Given the description of an element on the screen output the (x, y) to click on. 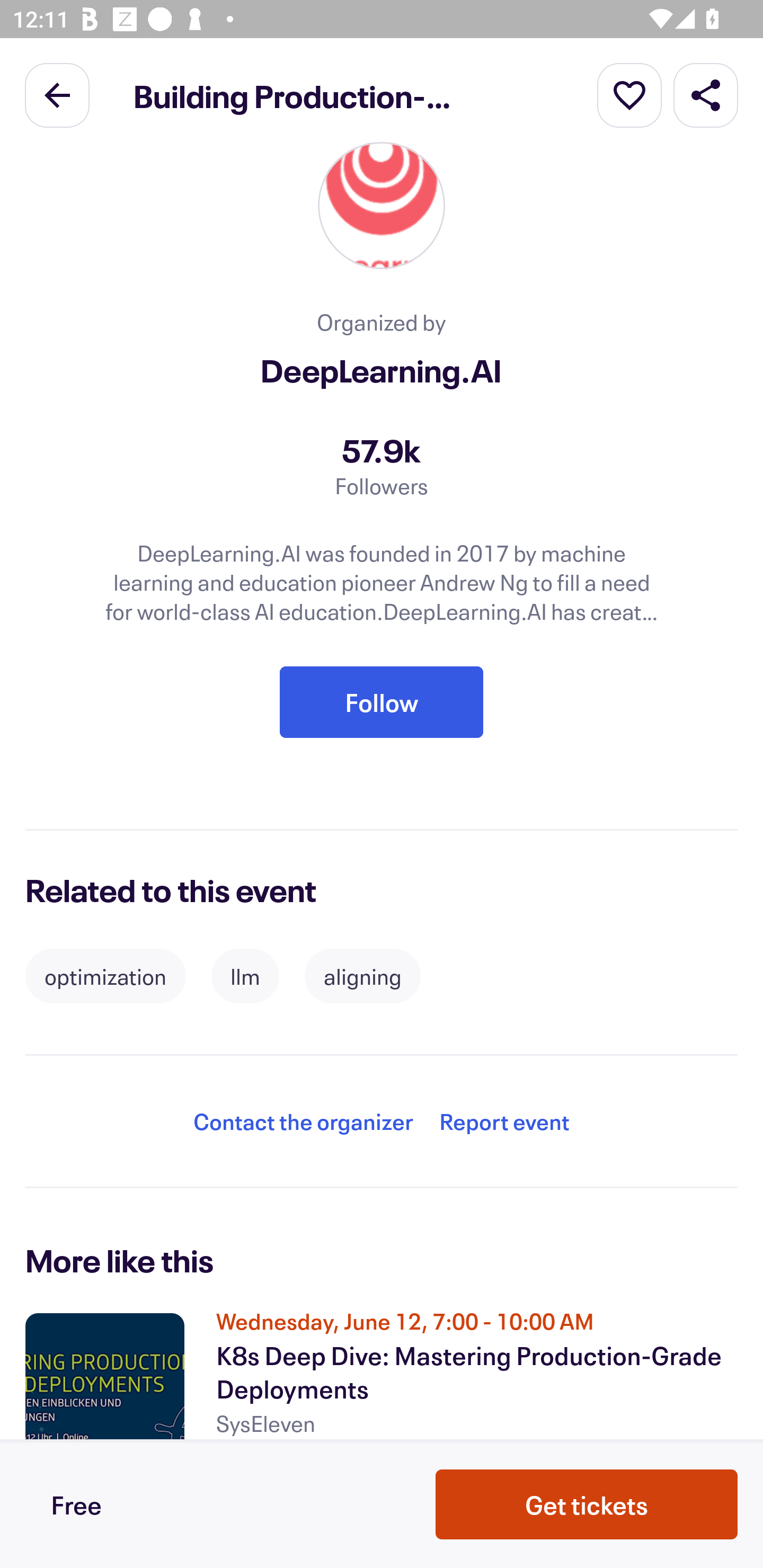
Back (57, 94)
More (629, 94)
Share (705, 94)
Organizer profile picture (381, 205)
DeepLearning.AI (381, 369)
Follow (381, 702)
optimization (105, 975)
llm (245, 975)
aligning (362, 975)
Contact the organizer (303, 1121)
Report event (504, 1121)
Get tickets (586, 1504)
